Given the description of an element on the screen output the (x, y) to click on. 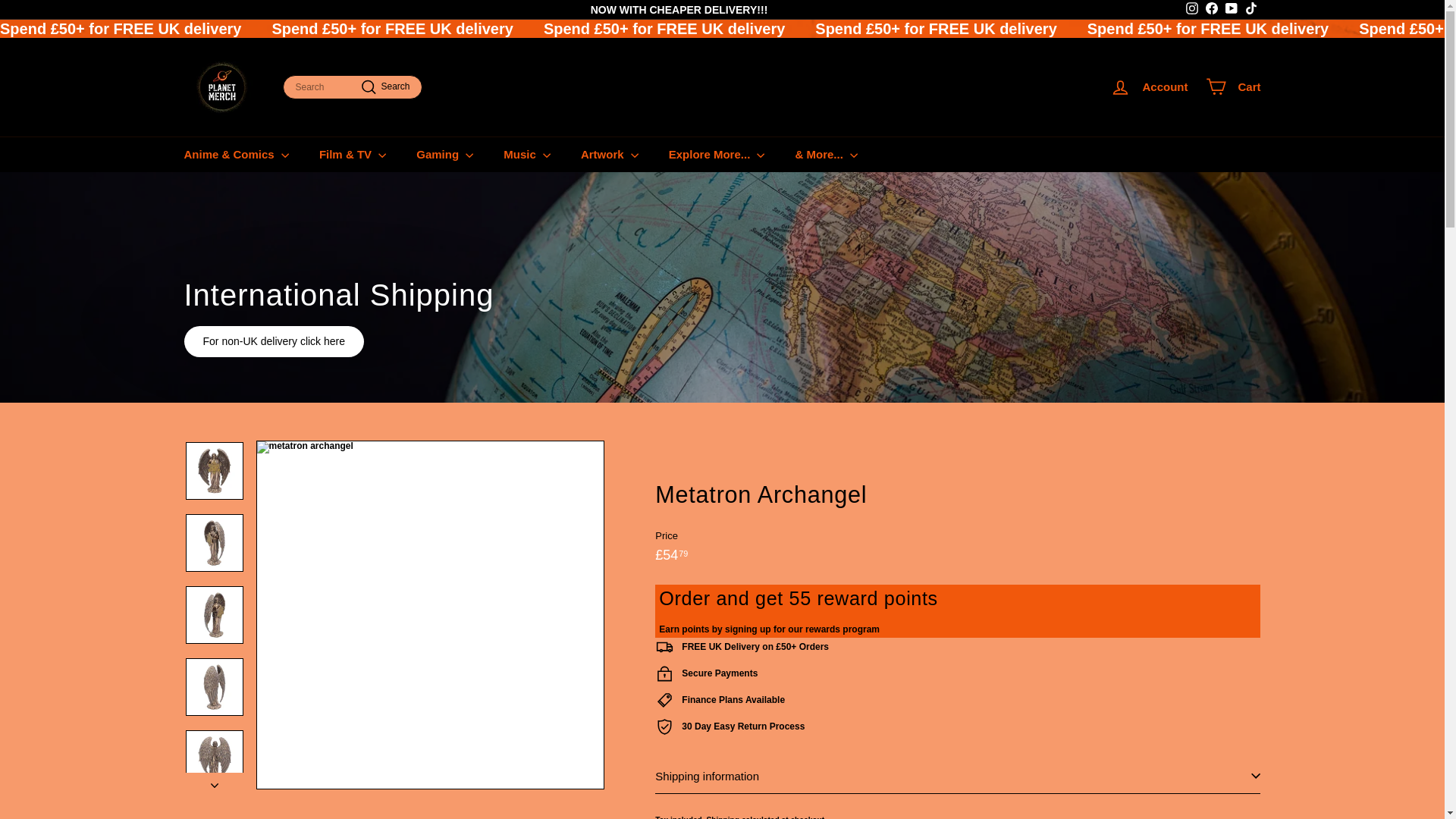
TikTok (1190, 9)
icon-chevron (1250, 9)
Cart (214, 784)
instagram (1232, 86)
Facebook (1192, 8)
Account (1211, 9)
YouTube (1148, 86)
